Given the description of an element on the screen output the (x, y) to click on. 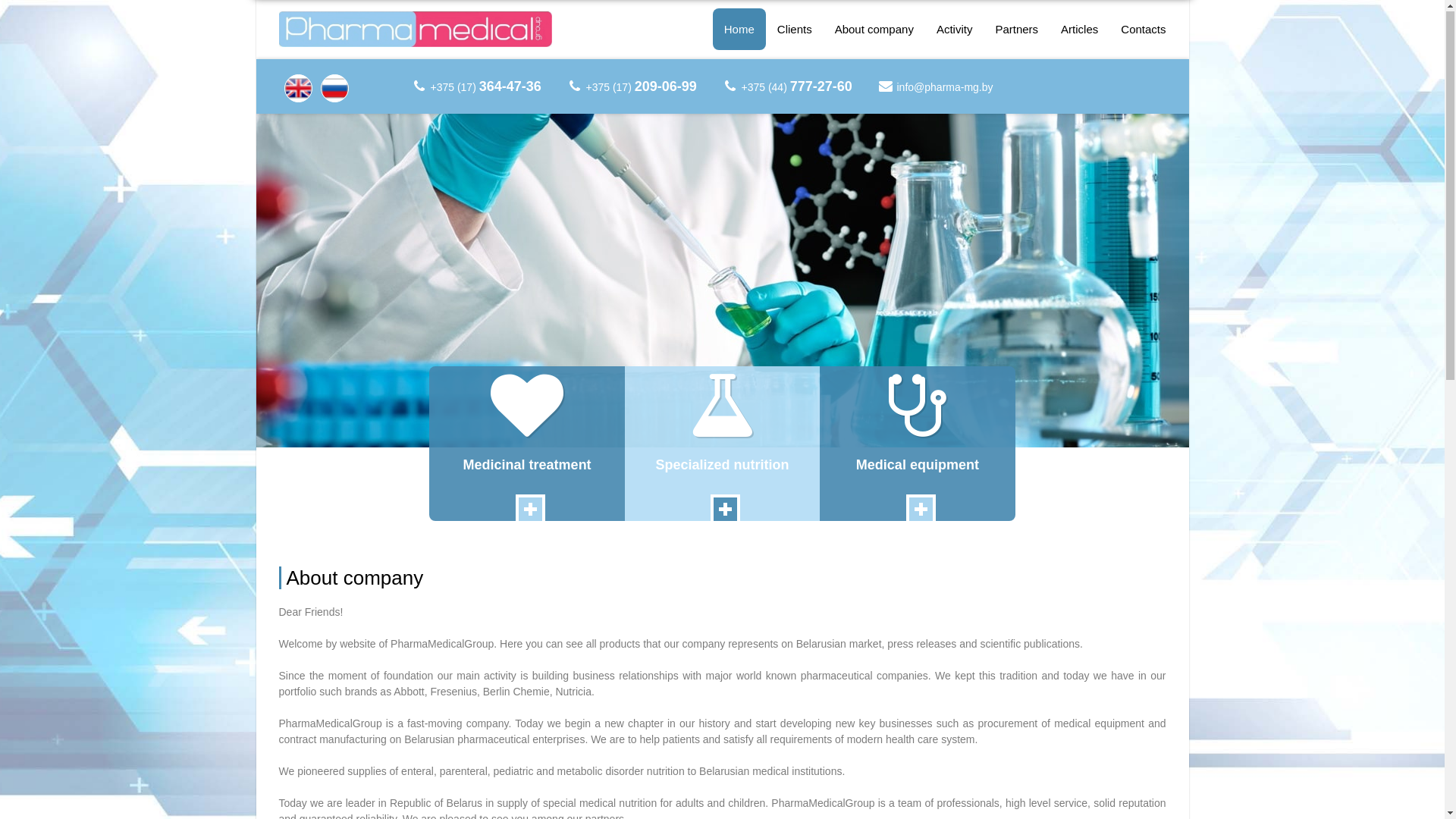
Activity Element type: text (954, 29)
Contacts Element type: text (1142, 29)
info@pharma-mg.by Element type: text (944, 87)
+375 (44) 777-27-60 Element type: text (796, 87)
Articles Element type: text (1079, 29)
Russian (CIS) Element type: hover (334, 89)
Medicinal treatment Element type: text (526, 444)
+375 (17) 209-06-99 Element type: text (640, 87)
About company Element type: text (874, 29)
Partners Element type: text (1016, 29)
Clients Element type: text (794, 29)
Specialized nutrition Element type: text (721, 444)
Medical equipment Element type: text (916, 444)
English (United Kingdom) Element type: hover (297, 89)
+375 (17) 364-47-36 Element type: text (485, 87)
Home Element type: text (738, 29)
